Given the description of an element on the screen output the (x, y) to click on. 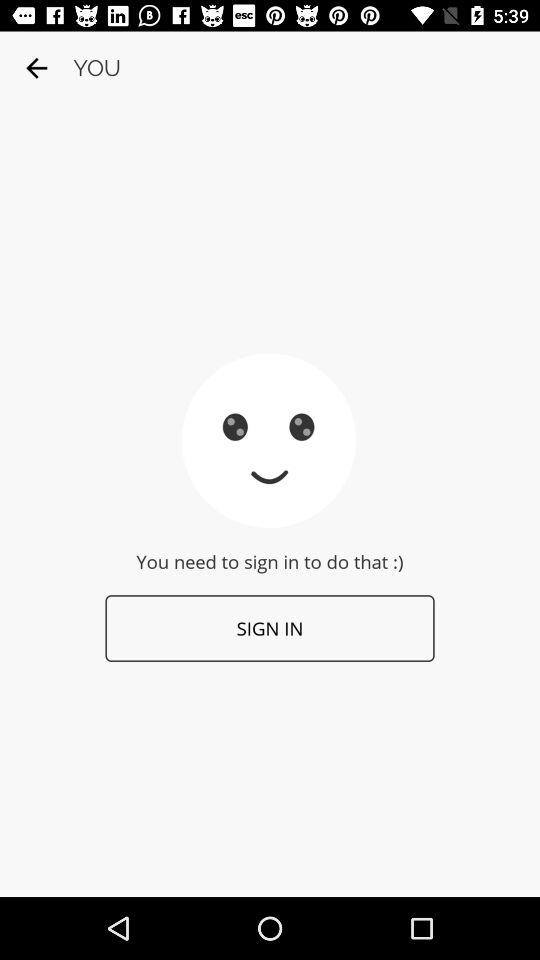
turn off the icon above the you need to (36, 68)
